Given the description of an element on the screen output the (x, y) to click on. 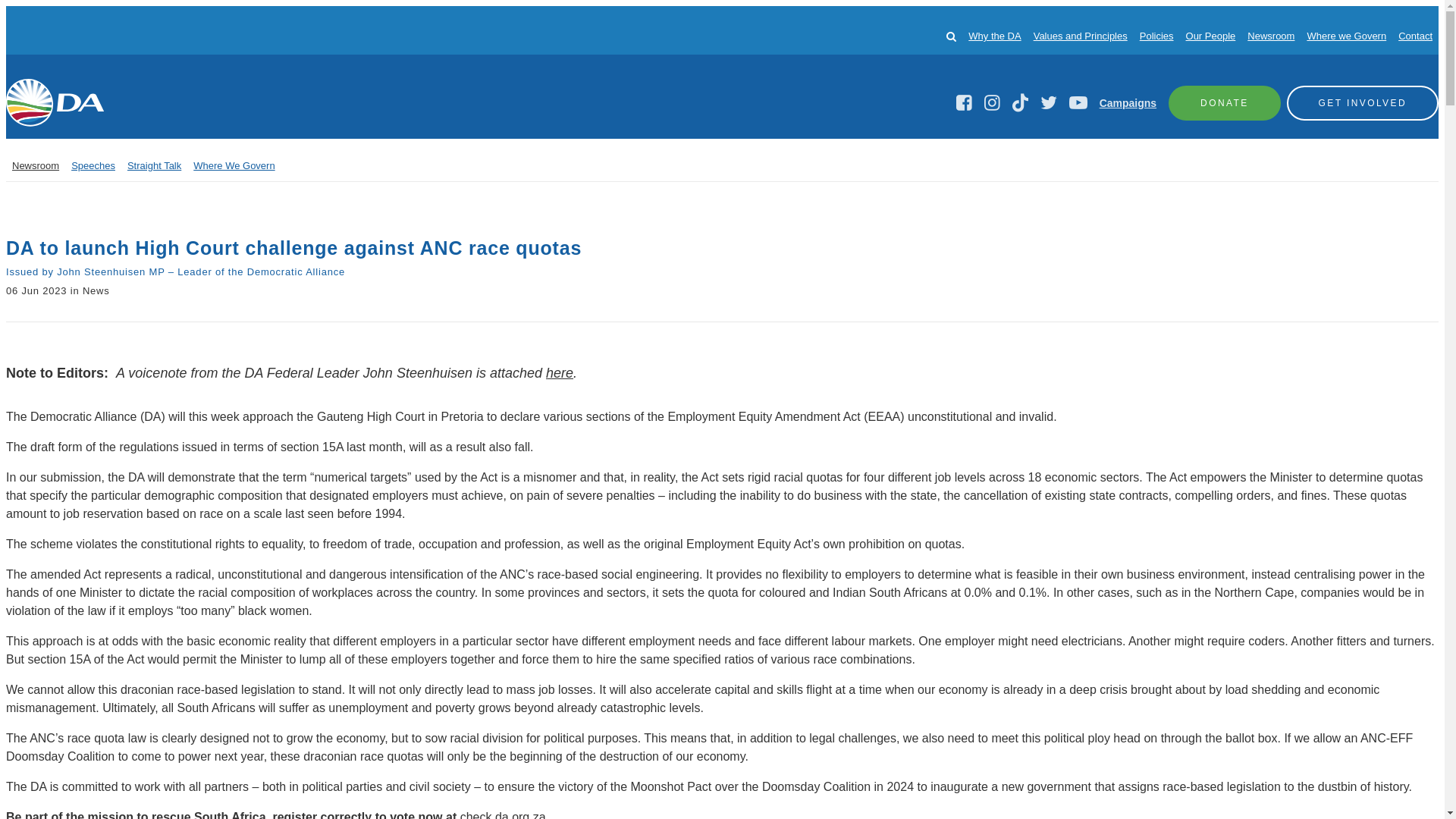
Our People (1211, 35)
Democratic Alliance Logo (54, 102)
Campaigns (1127, 102)
DONATE (1225, 102)
Policies (1156, 35)
Straight Talk (154, 165)
Speeches (93, 165)
Newsroom (35, 165)
check.da.org.za (503, 814)
Where We Govern (234, 165)
Newsroom (1270, 35)
Values and Principles (1079, 35)
here (559, 372)
DONATE (1225, 101)
Why the DA (994, 35)
